Given the description of an element on the screen output the (x, y) to click on. 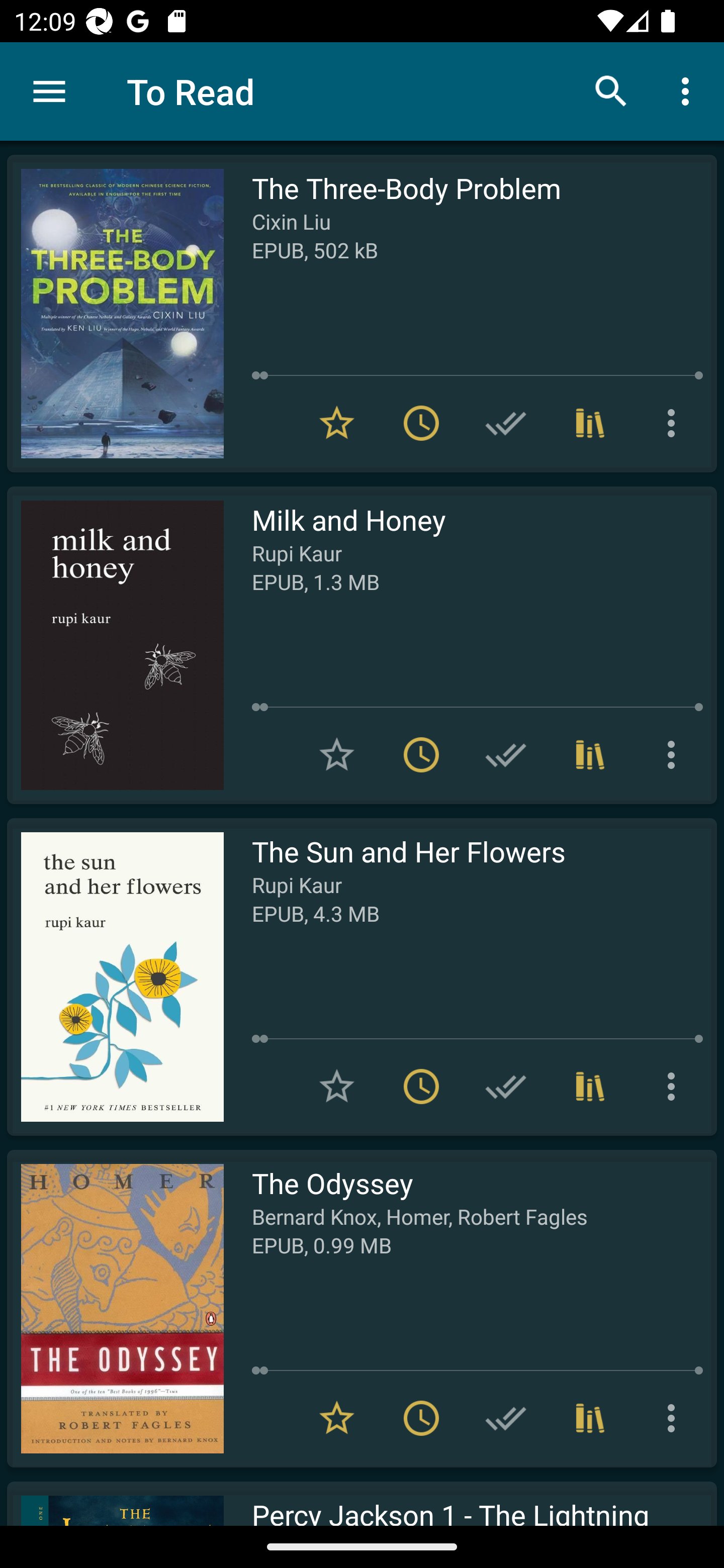
Menu (49, 91)
Search books & documents (611, 90)
More options (688, 90)
Read The Three-Body Problem (115, 313)
Remove from Favorites (336, 423)
Remove from To read (421, 423)
Add to Have read (505, 423)
Collections (1) (590, 423)
More options (674, 423)
Read Milk and Honey (115, 645)
Add to Favorites (336, 753)
Remove from To read (421, 753)
Add to Have read (505, 753)
Collections (2) (590, 753)
More options (674, 753)
Read The Sun and Her Flowers (115, 976)
Add to Favorites (336, 1086)
Remove from To read (421, 1086)
Add to Have read (505, 1086)
Collections (1) (590, 1086)
More options (674, 1086)
Read The Odyssey (115, 1308)
Remove from Favorites (336, 1417)
Remove from To read (421, 1417)
Add to Have read (505, 1417)
Collections (2) (590, 1417)
More options (674, 1417)
